Given the description of an element on the screen output the (x, y) to click on. 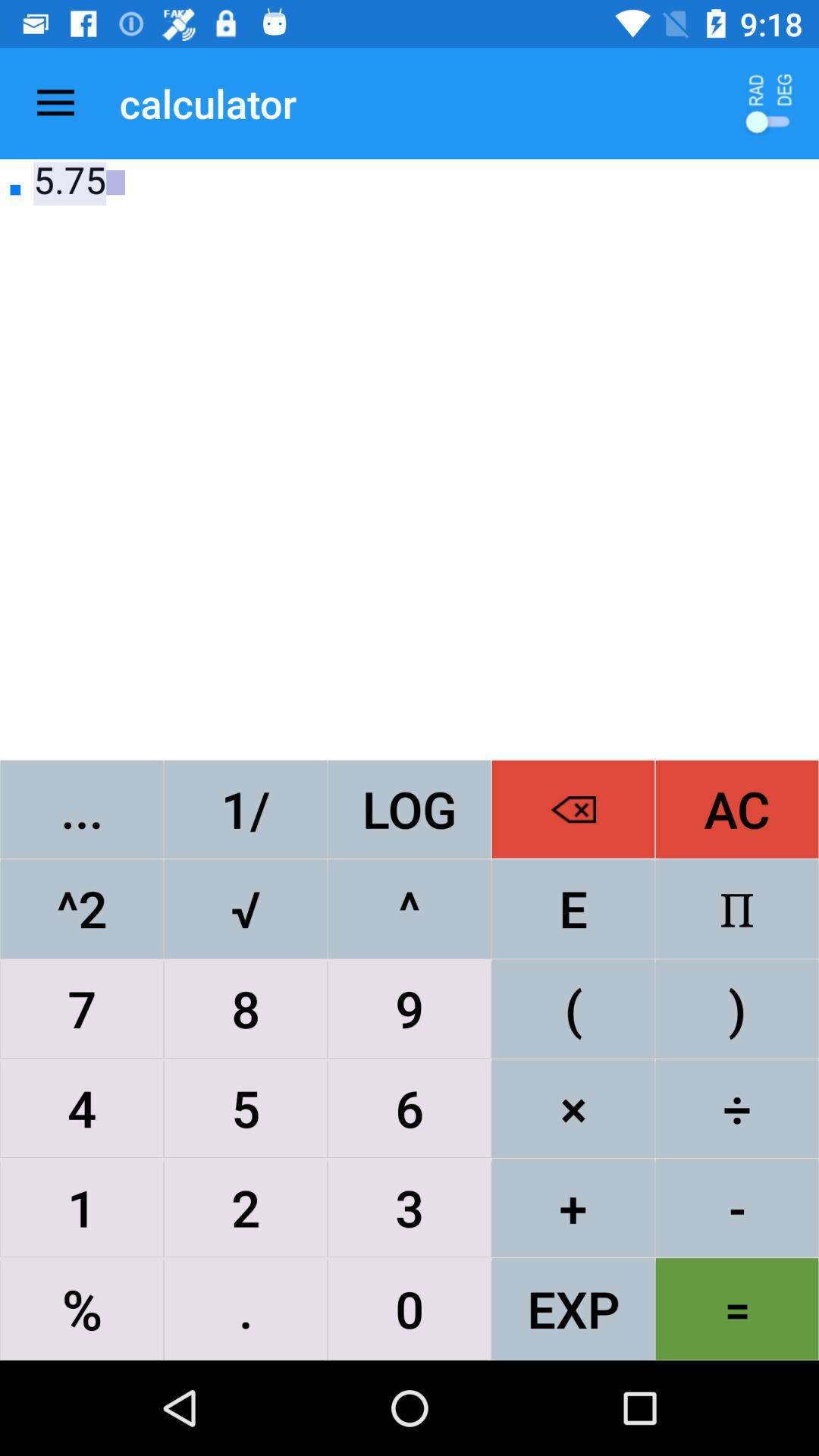
press the icon to the left of 9 item (245, 1108)
